Given the description of an element on the screen output the (x, y) to click on. 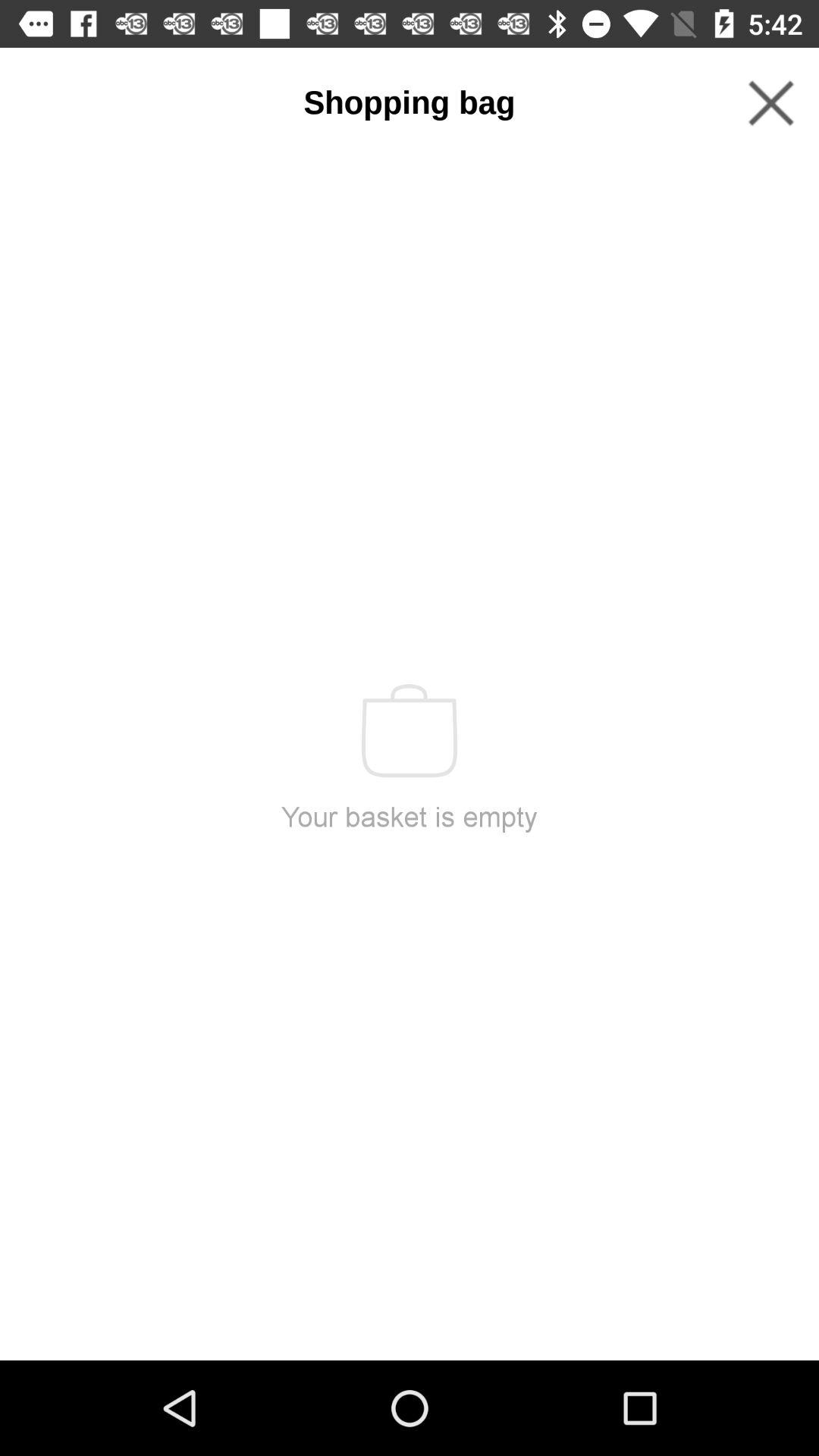
press item at the top right corner (771, 103)
